Given the description of an element on the screen output the (x, y) to click on. 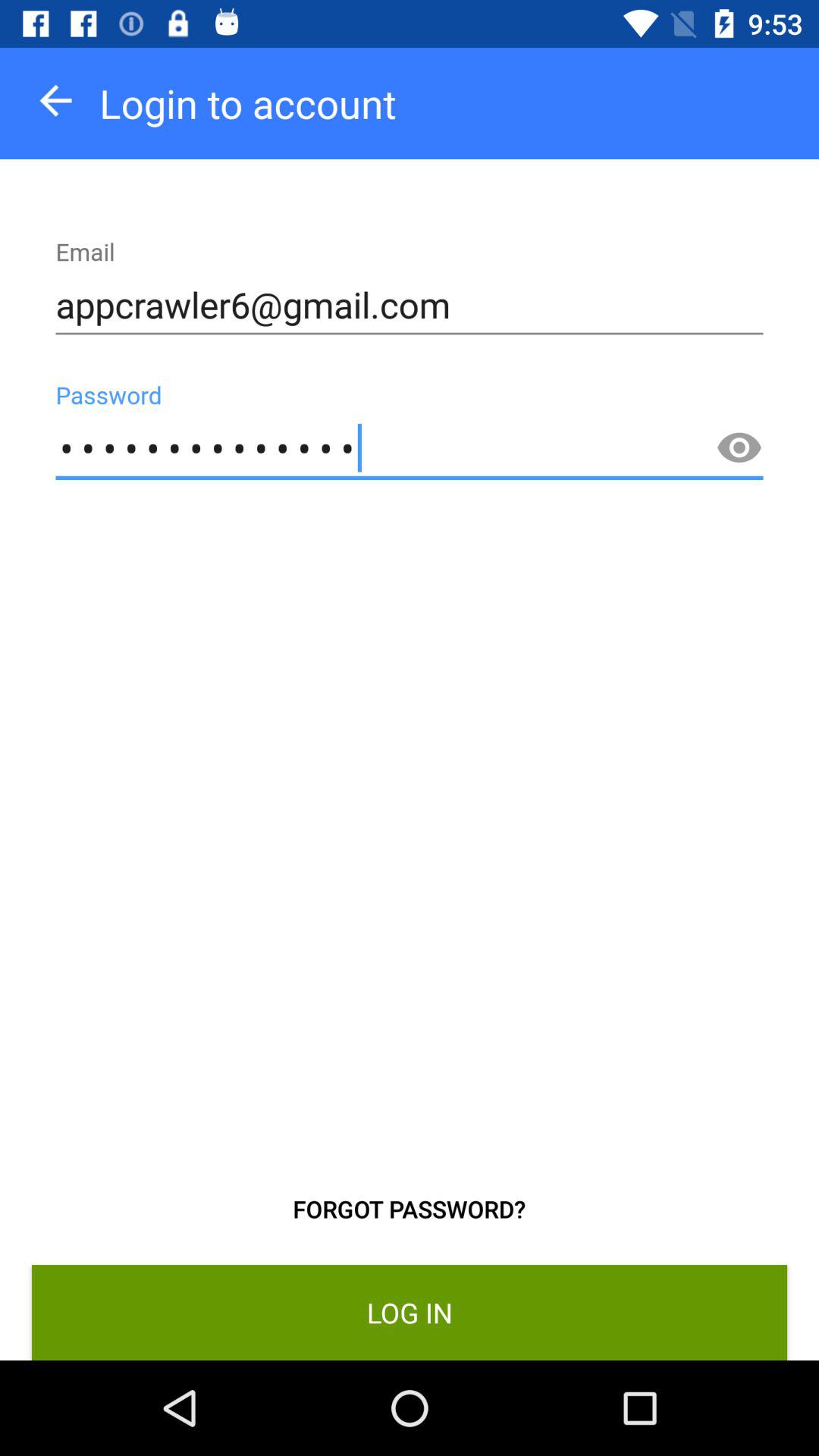
open the icon above the log in (739, 448)
